Given the description of an element on the screen output the (x, y) to click on. 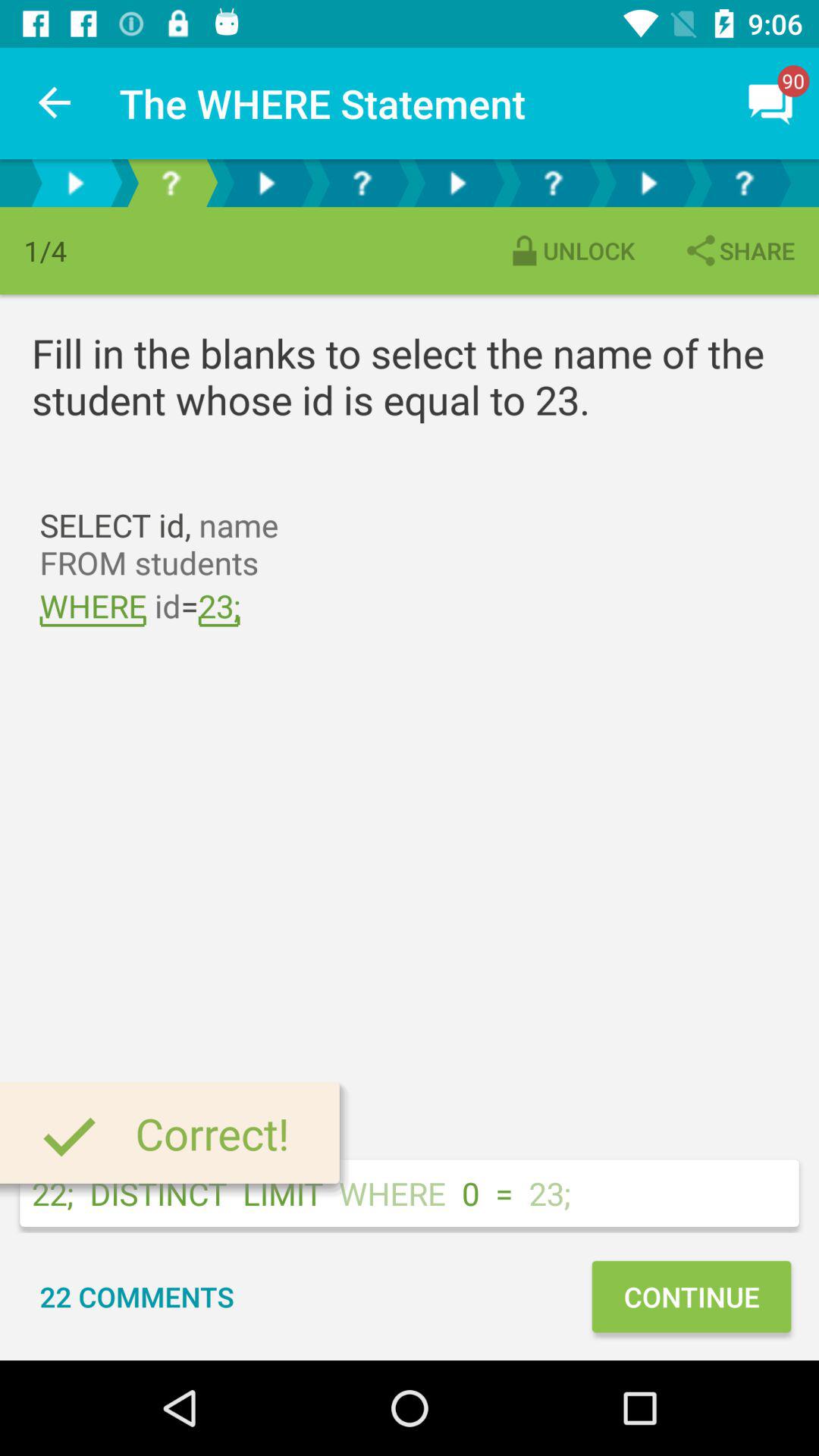
go to previous content (74, 183)
